Given the description of an element on the screen output the (x, y) to click on. 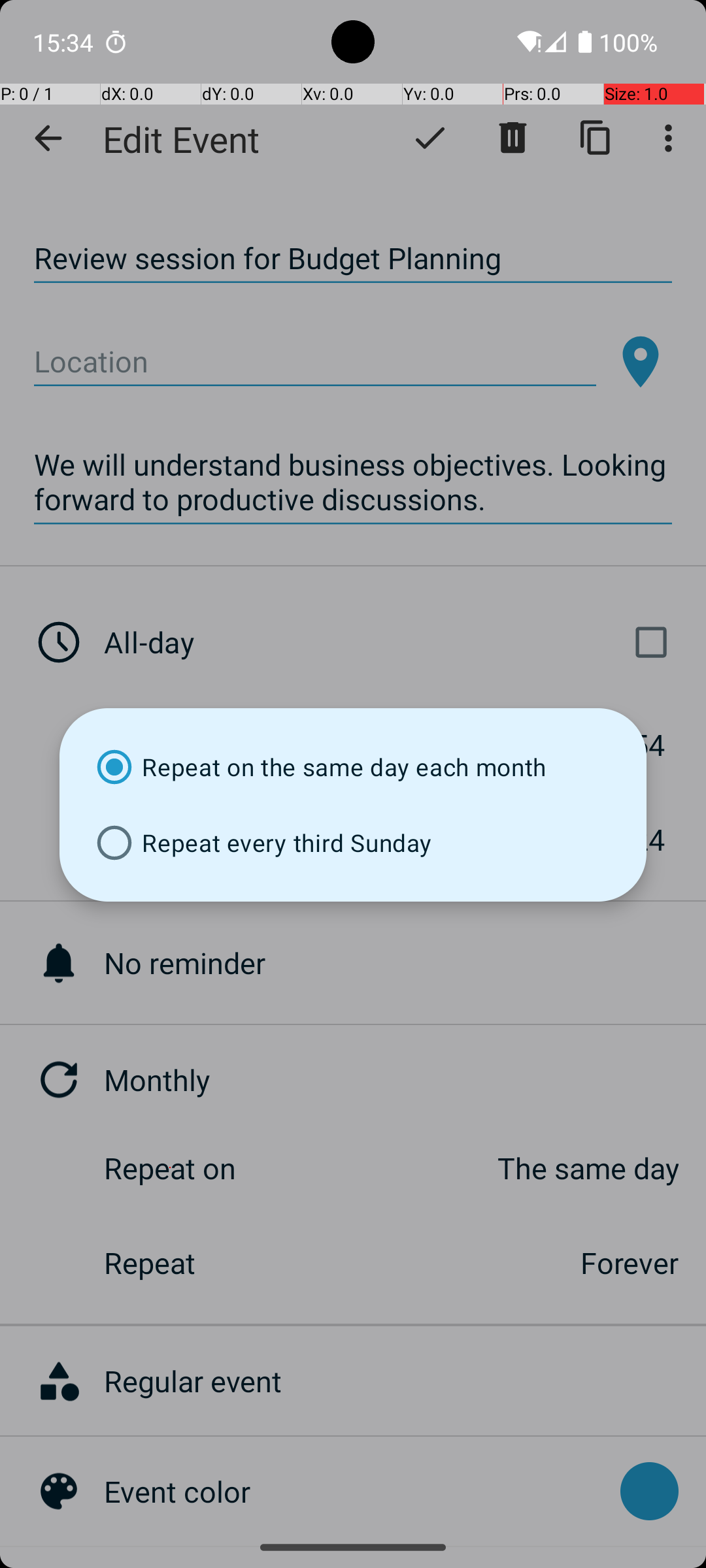
Repeat on the same day each month Element type: android.widget.RadioButton (352, 766)
Repeat every third Sunday Element type: android.widget.RadioButton (352, 842)
